Given the description of an element on the screen output the (x, y) to click on. 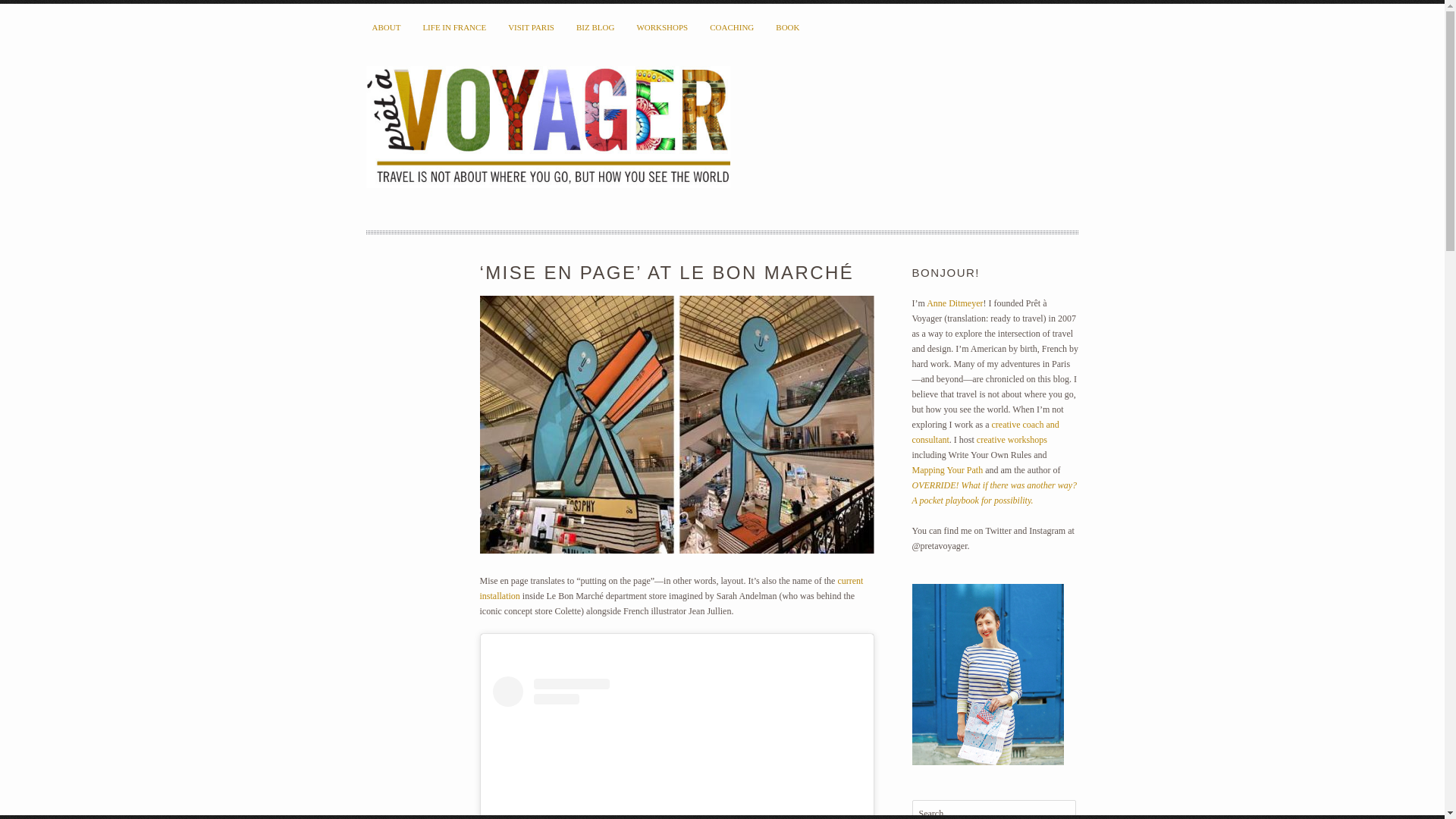
VISIT PARIS (531, 27)
BIZ BLOG (595, 27)
LIFE IN FRANCE (454, 27)
WORKSHOPS (662, 27)
Search... (993, 809)
Return to the homepage (547, 129)
creative workshops (1011, 439)
current installation (671, 588)
COACHING (731, 27)
Anne Ditmeyer (954, 303)
Mapping Your Path (946, 470)
creative coach and consultant (984, 432)
